Given the description of an element on the screen output the (x, y) to click on. 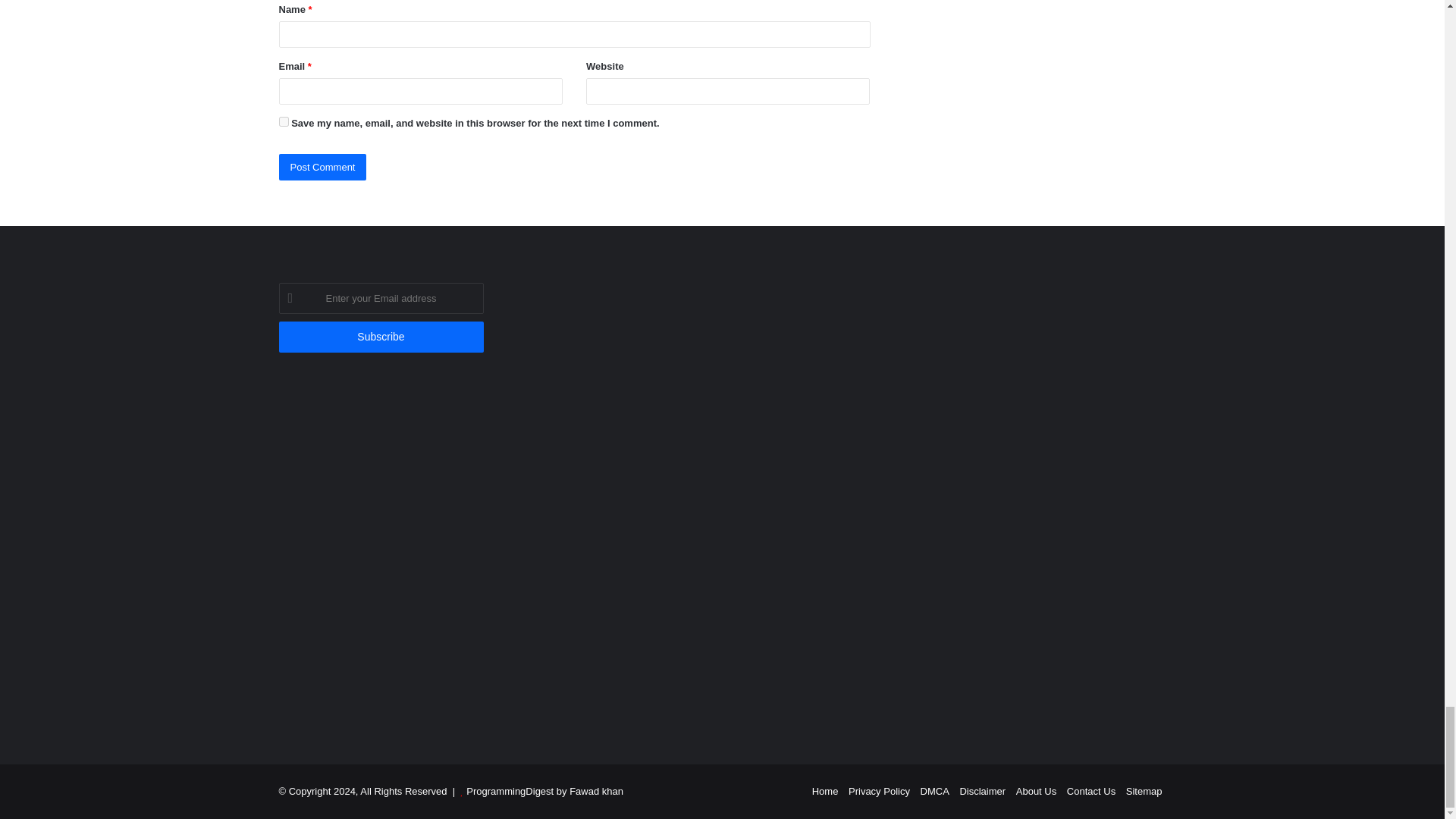
Subscribe (381, 336)
yes (283, 121)
Post Comment (322, 166)
